Given the description of an element on the screen output the (x, y) to click on. 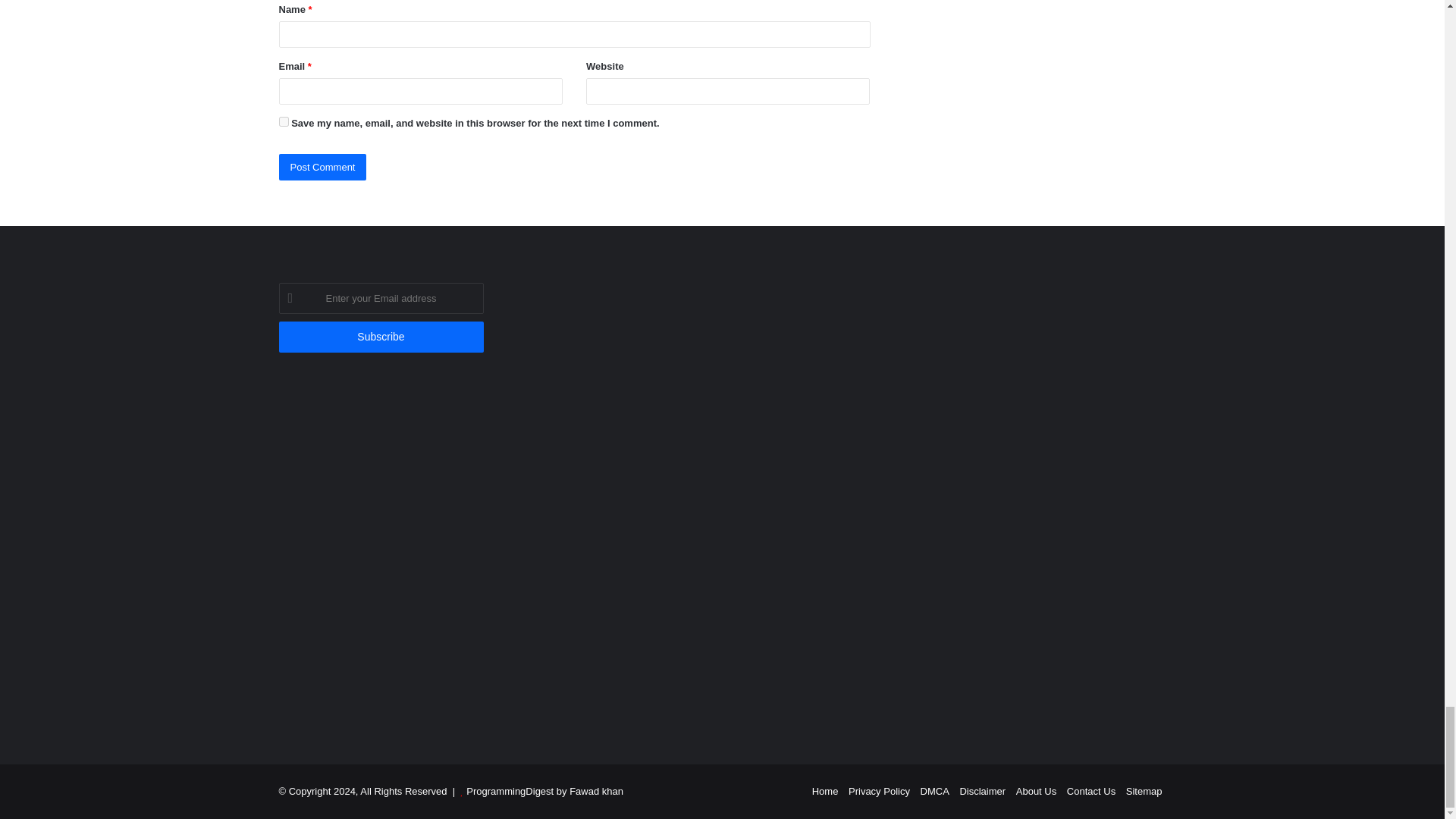
Subscribe (381, 336)
yes (283, 121)
Post Comment (322, 166)
